Given the description of an element on the screen output the (x, y) to click on. 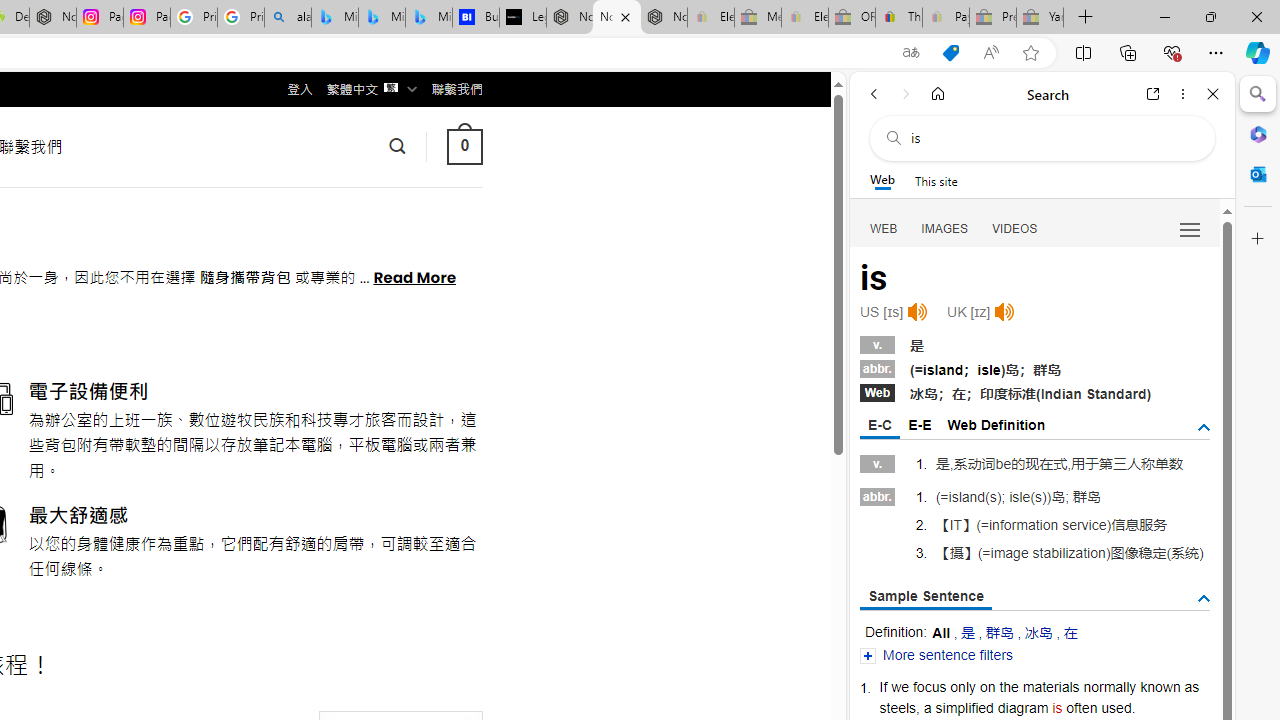
simplified (964, 707)
normally (1109, 686)
Threats and offensive language policy | eBay (898, 17)
